Given the description of an element on the screen output the (x, y) to click on. 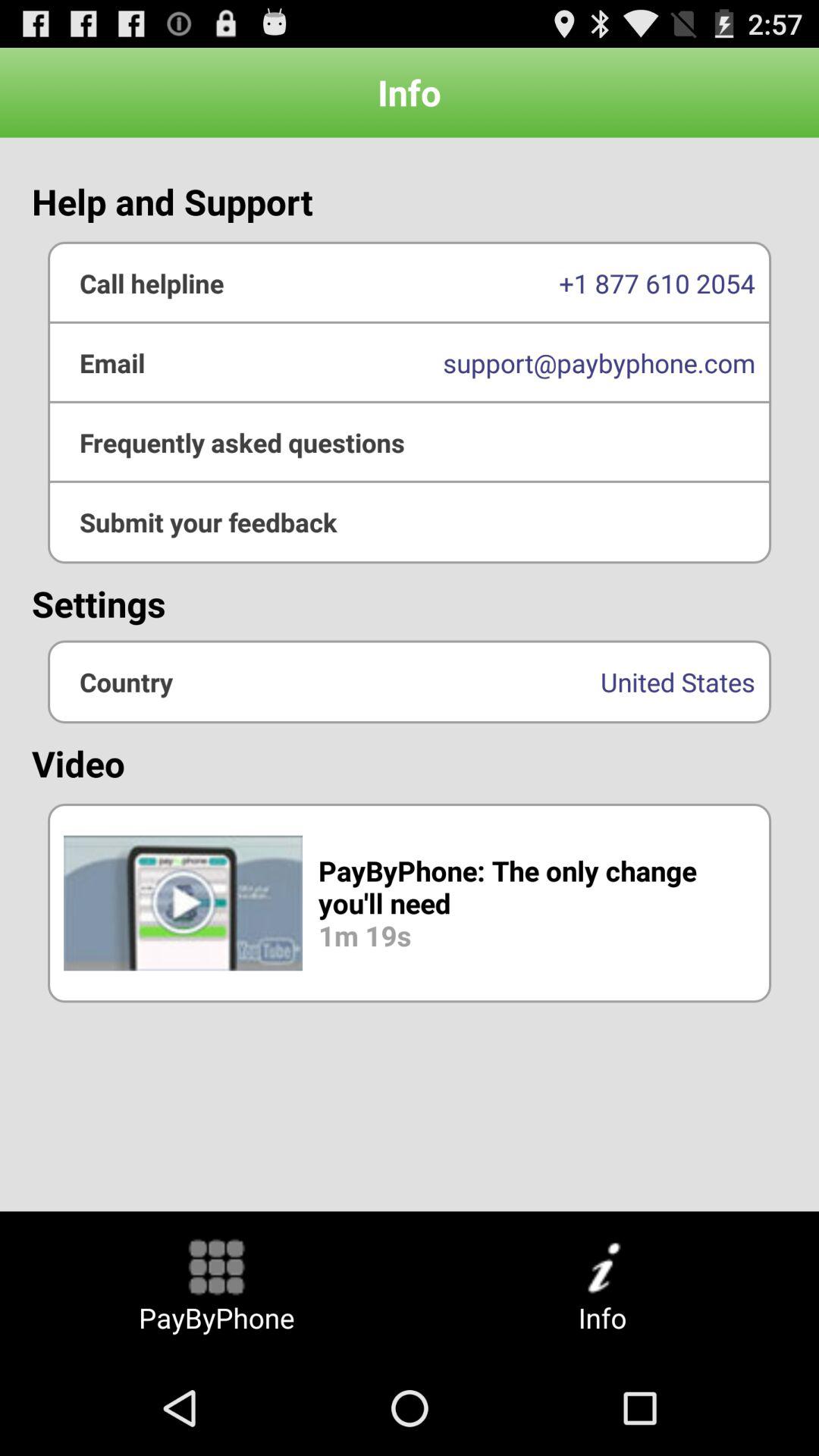
select the app above the settings app (409, 442)
